Given the description of an element on the screen output the (x, y) to click on. 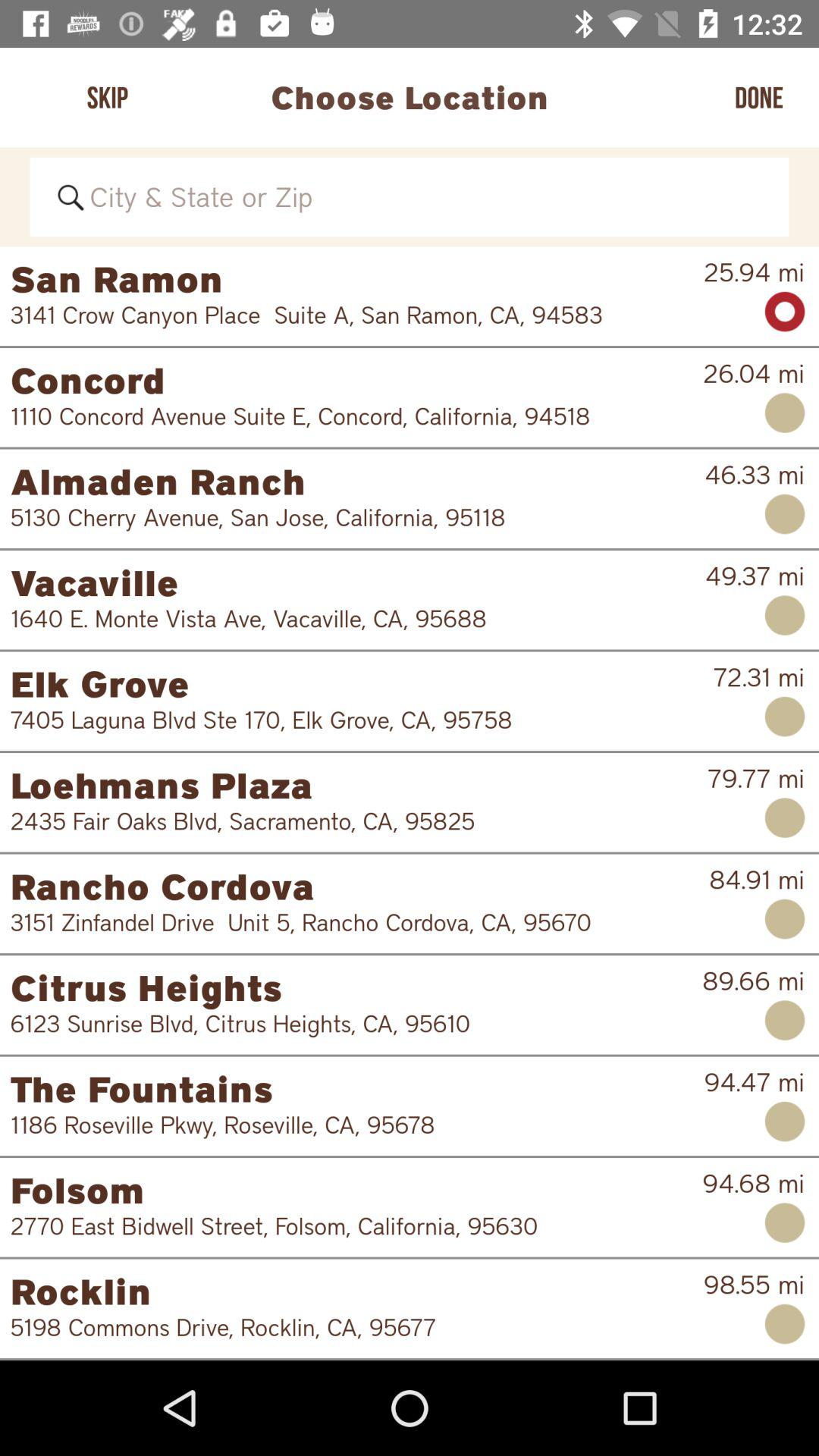
select 79.77 mi (755, 778)
